Given the description of an element on the screen output the (x, y) to click on. 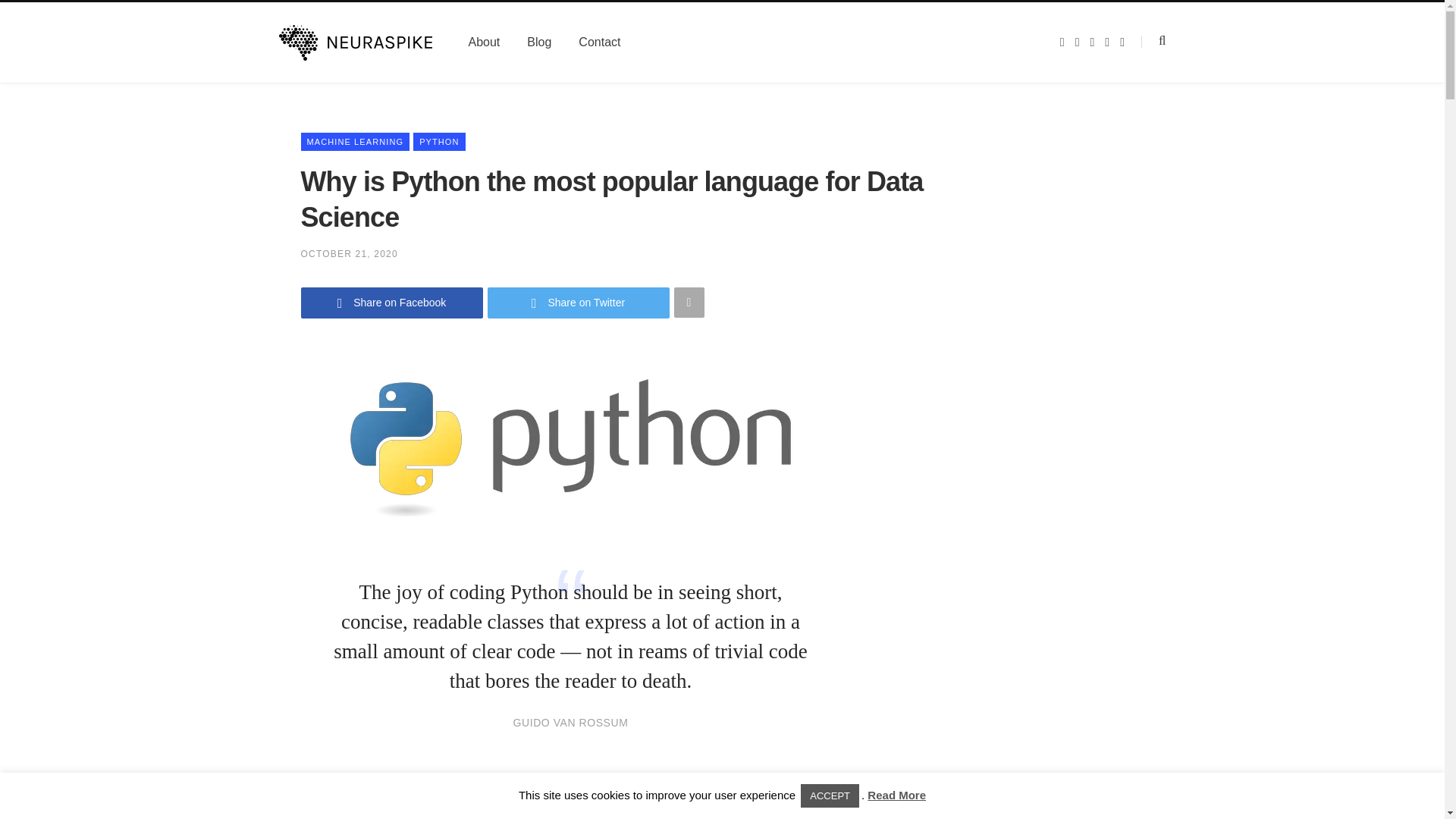
Search (1153, 41)
Share on Facebook (390, 302)
About (483, 41)
PYTHON (438, 141)
Blog (538, 41)
Share (709, 805)
Share on Twitter (577, 302)
Contact (598, 41)
MACHINE LEARNING (354, 141)
Share on Twitter (577, 302)
